Given the description of an element on the screen output the (x, y) to click on. 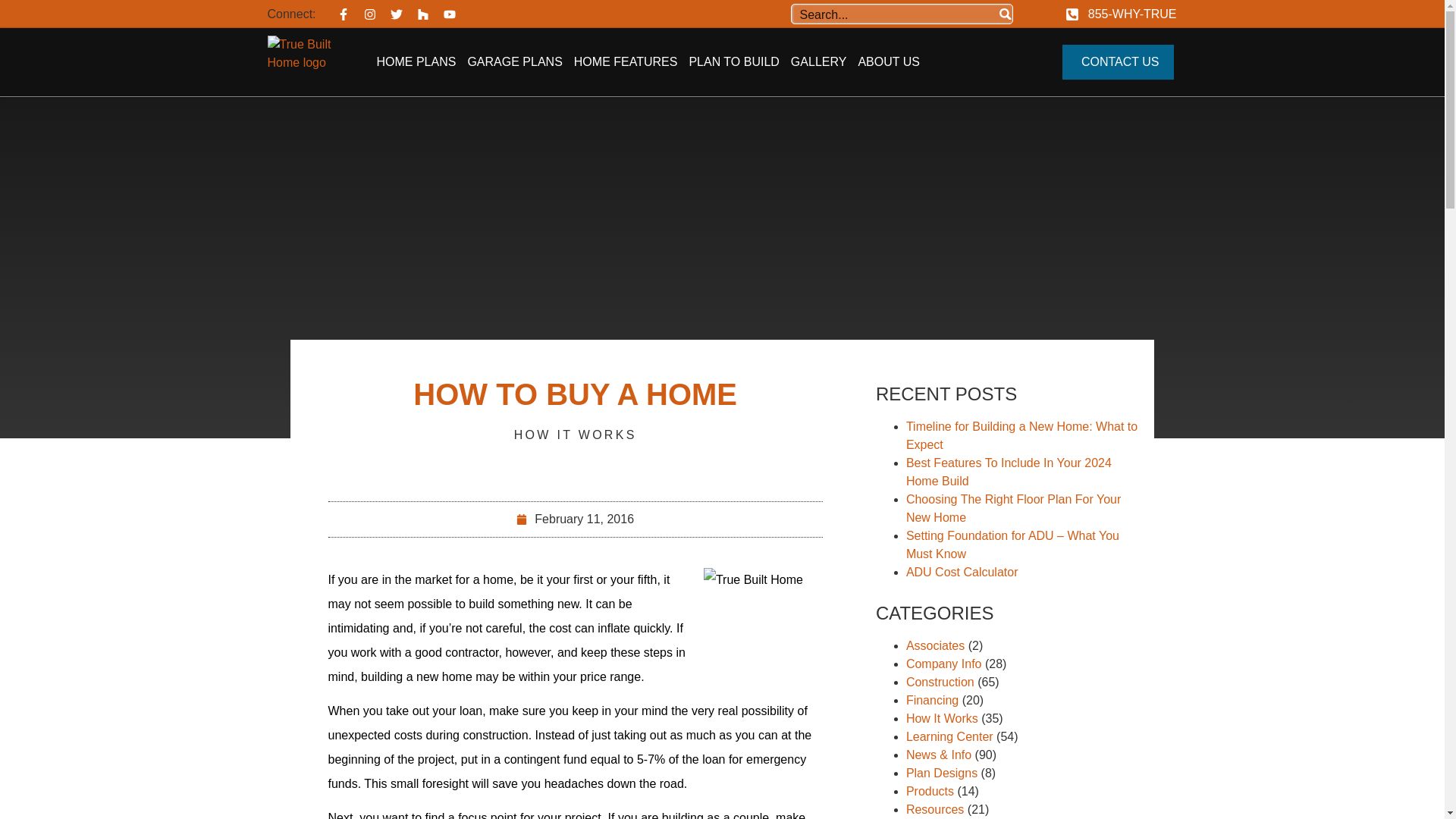
GALLERY (818, 61)
GARAGE PLANS (514, 61)
HOME FEATURES (625, 61)
855-WHY-TRUE (1120, 13)
HOME PLANS (415, 61)
PLAN TO BUILD (733, 61)
ABOUT US (888, 61)
